Given the description of an element on the screen output the (x, y) to click on. 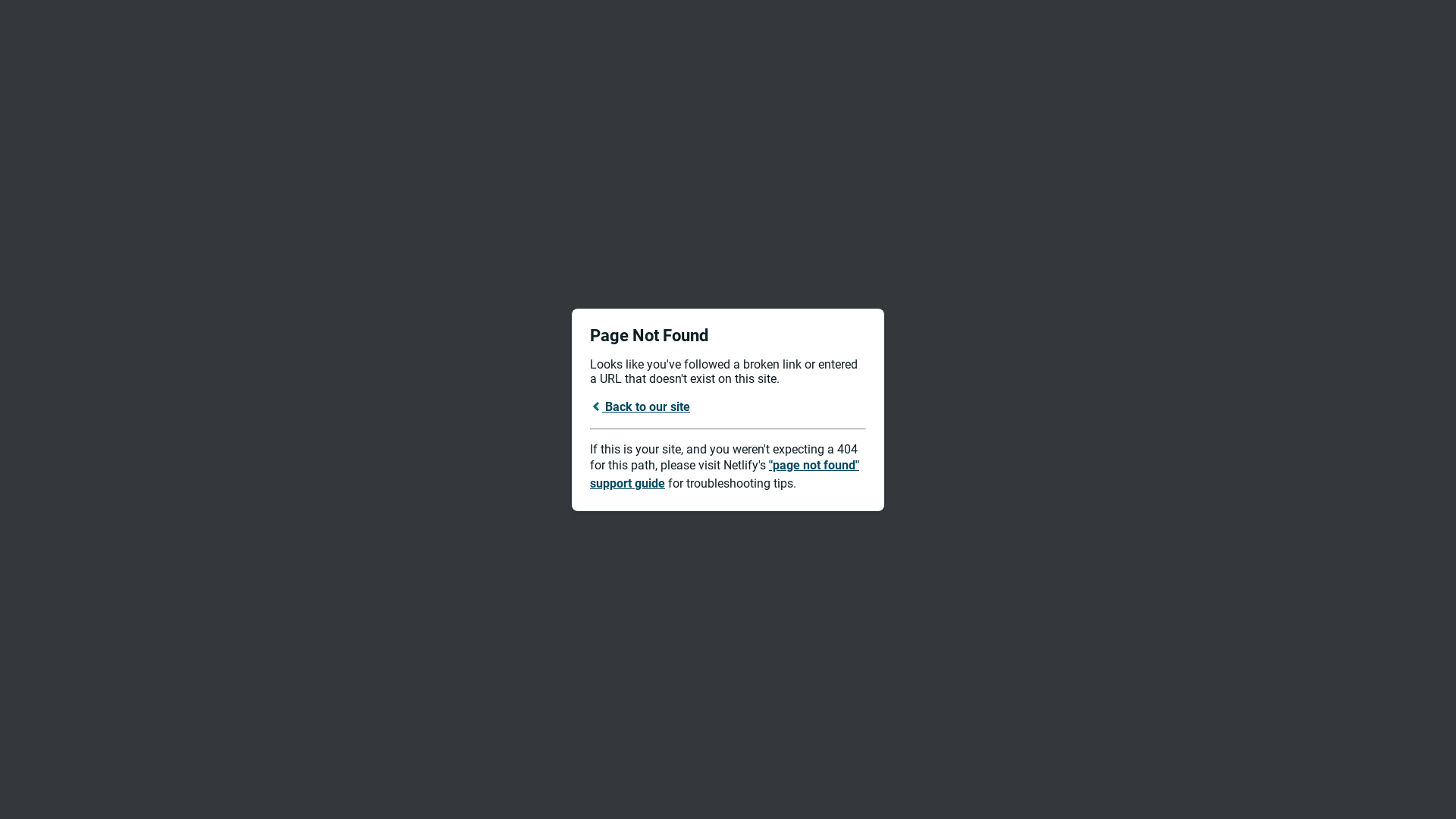
Back to our site Element type: text (639, 405)
"page not found" support guide Element type: text (724, 474)
